Given the description of an element on the screen output the (x, y) to click on. 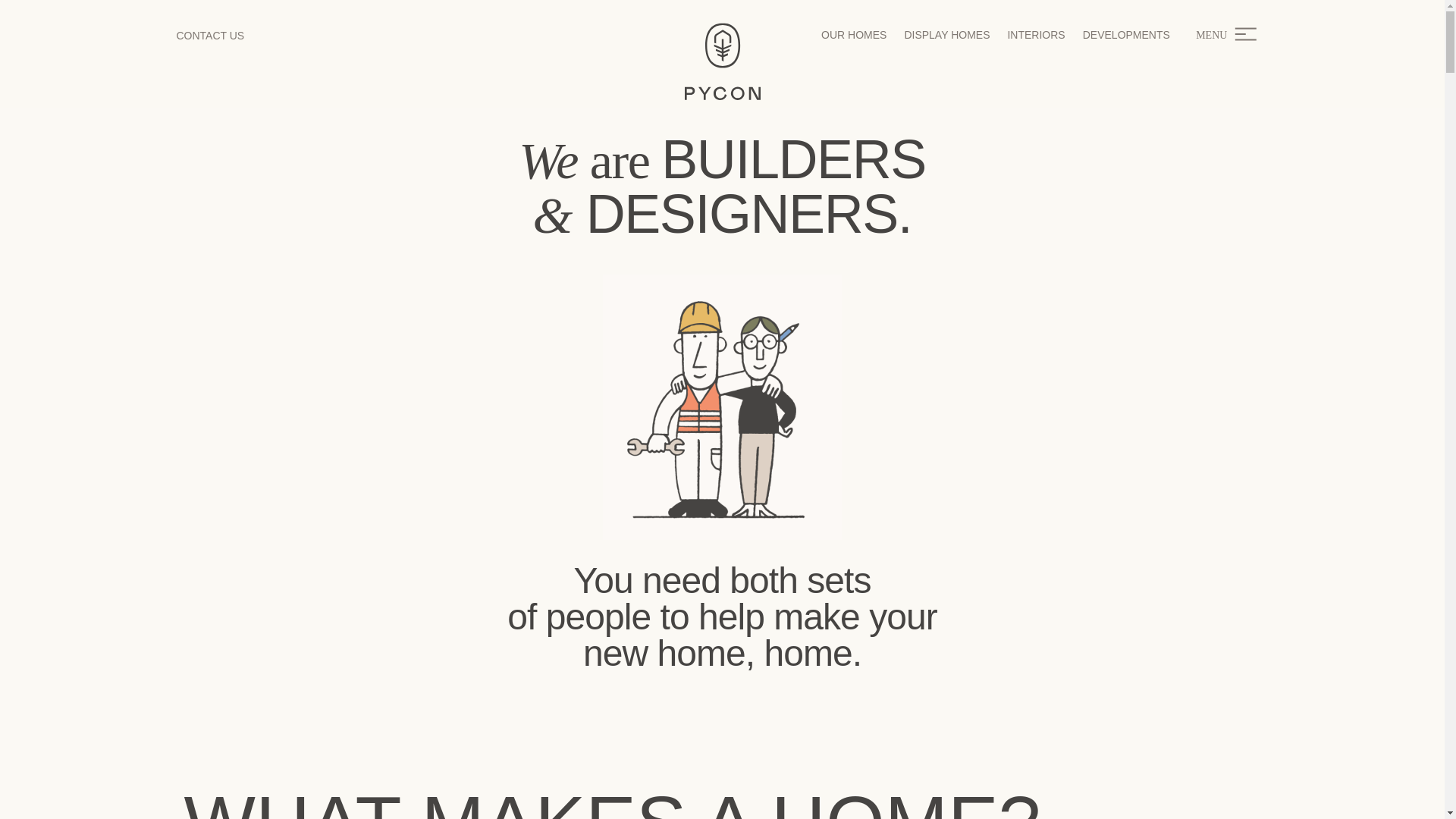
CONTACT US (210, 35)
OUR HOMES (853, 35)
Pycon Homes Home Page (722, 60)
INTERIORS (1035, 35)
DISPLAY HOMES (947, 35)
Builders and Designers (721, 406)
DEVELOPMENTS (1126, 35)
